Given the description of an element on the screen output the (x, y) to click on. 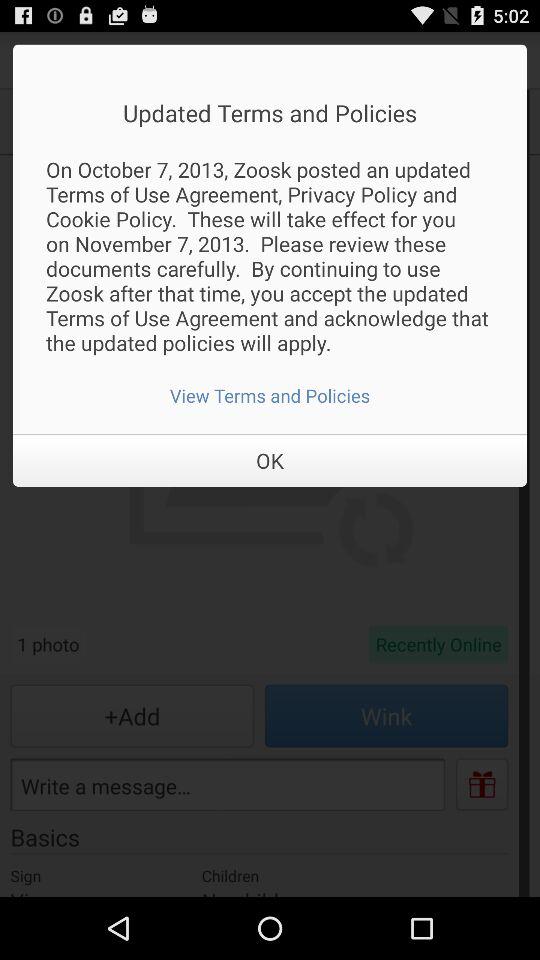
choose item below the view terms and (269, 460)
